Given the description of an element on the screen output the (x, y) to click on. 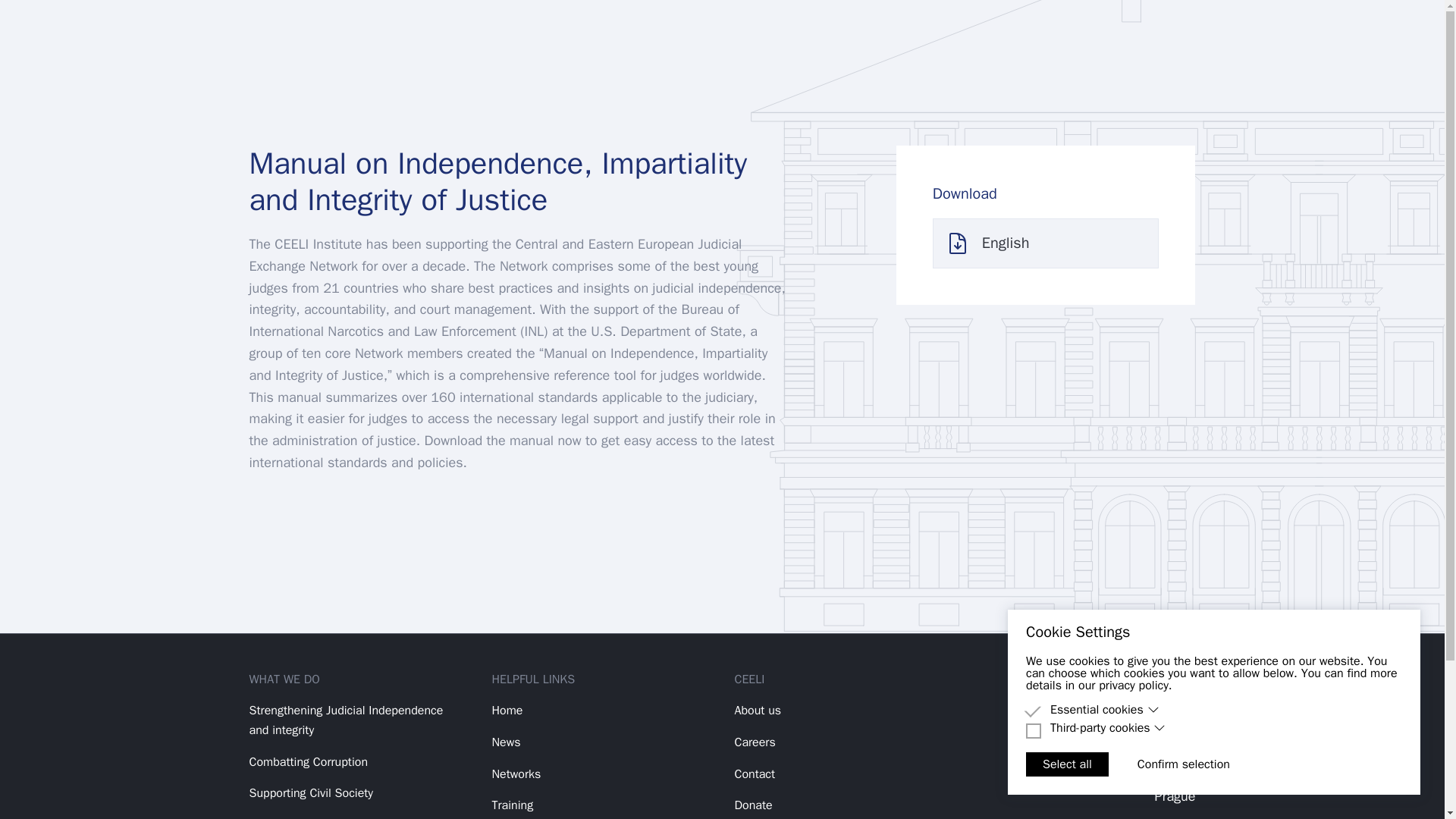
Confirm selection (1183, 764)
Strengthening Judicial Independence and integrity (345, 719)
Select all (1067, 764)
English (1045, 243)
